Given the description of an element on the screen output the (x, y) to click on. 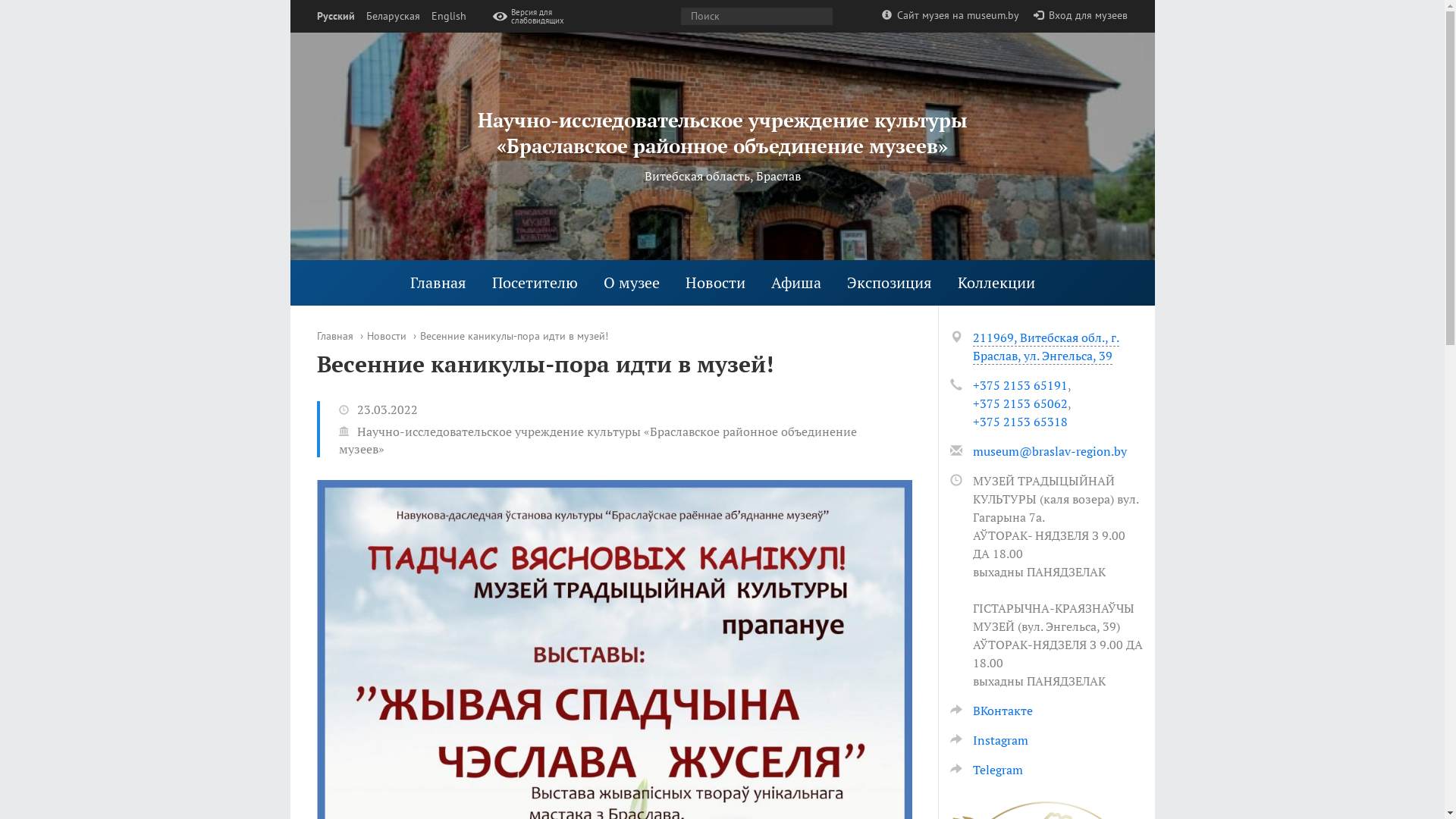
English Element type: text (447, 16)
Instagram Element type: text (988, 739)
+375 2153 65191 Element type: text (1019, 385)
+375 2153 65062 Element type: text (1019, 403)
+375 2153 65318 Element type: text (1019, 421)
Telegram Element type: text (985, 769)
museum@braslav-region.by Element type: text (1049, 450)
